Given the description of an element on the screen output the (x, y) to click on. 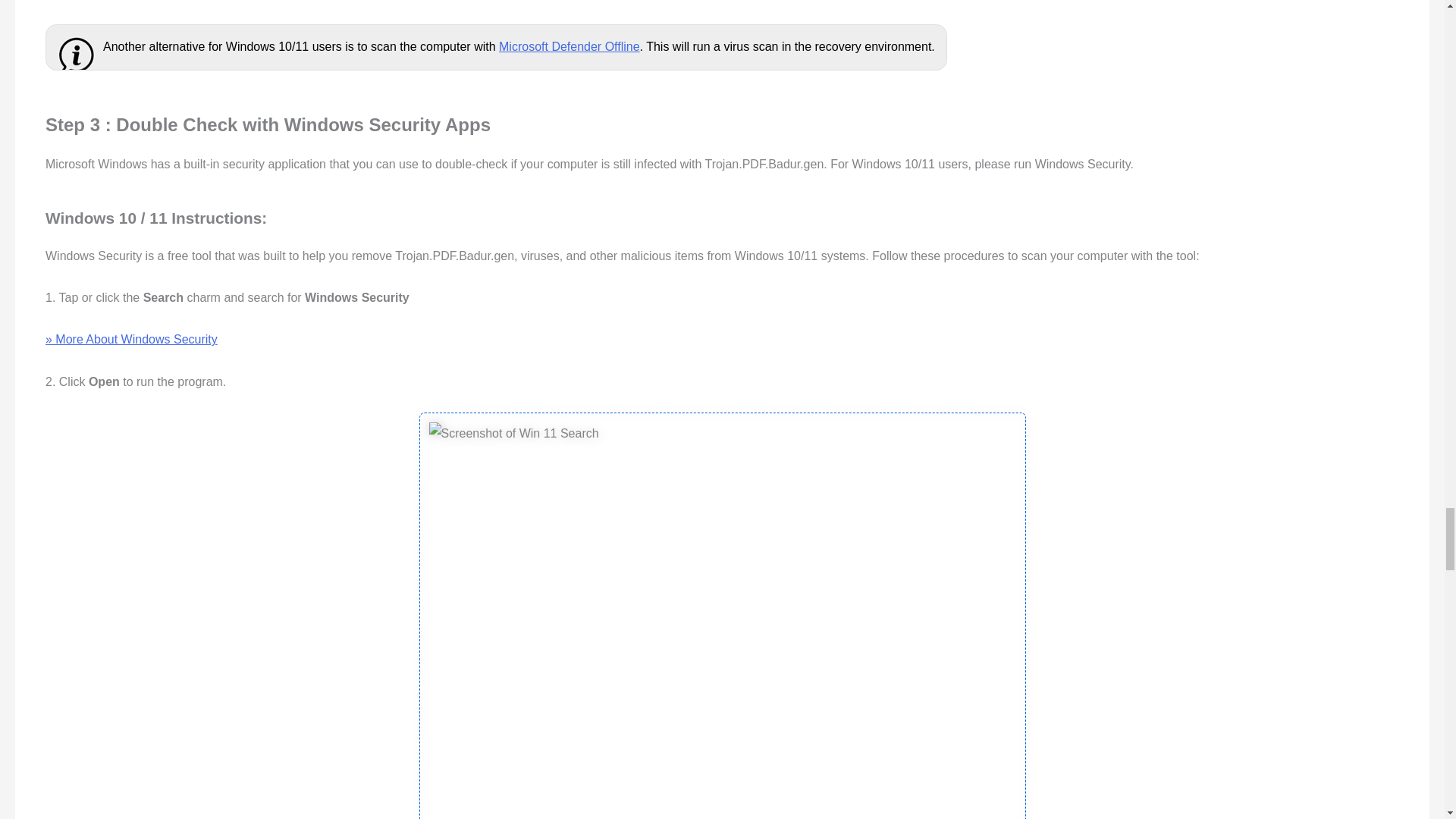
Windows Security (130, 338)
Microsoft Defender Offline (569, 46)
